Given the description of an element on the screen output the (x, y) to click on. 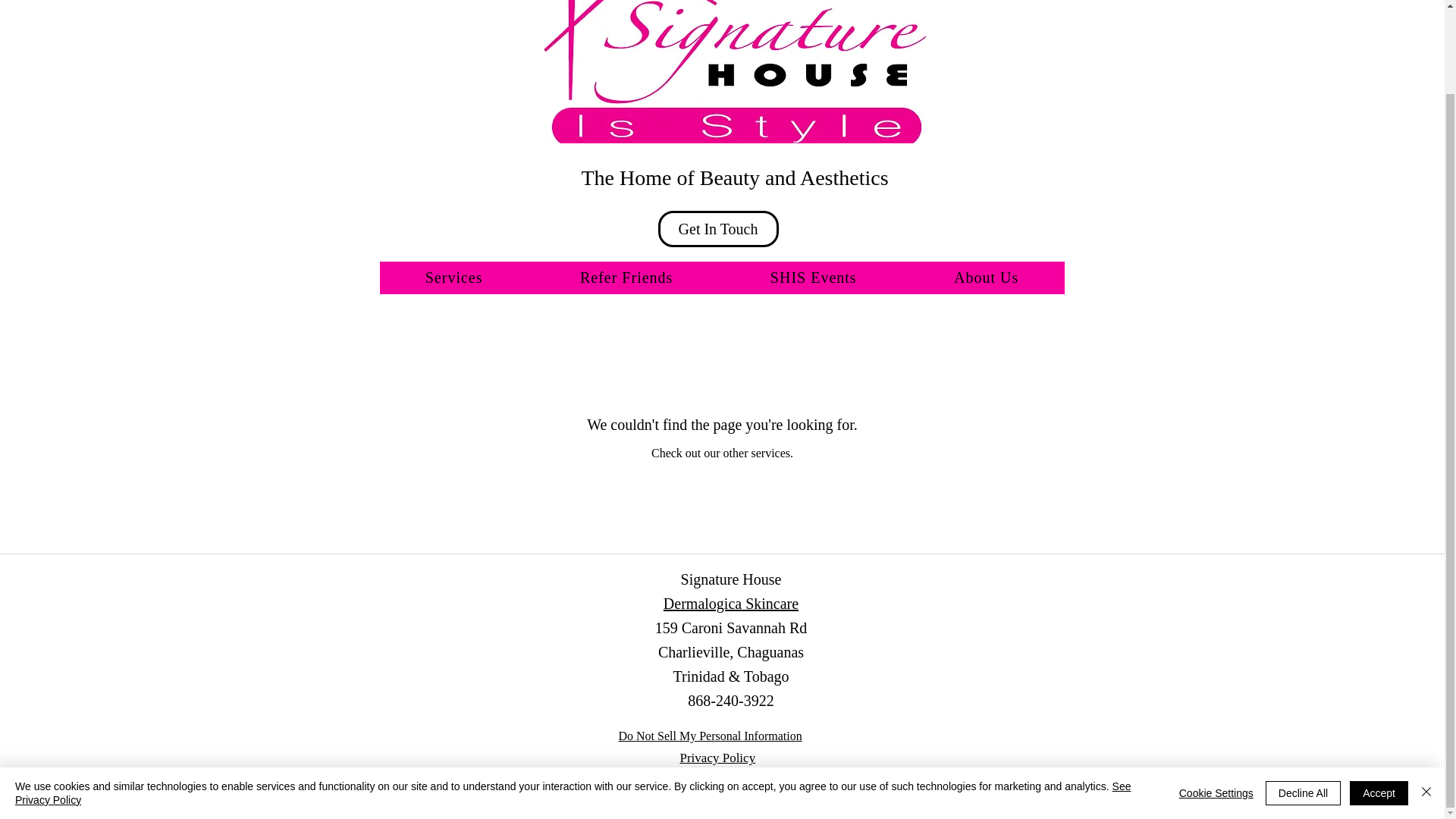
SHIS Events (813, 277)
Get In Touch (718, 228)
Decline All (1302, 698)
See Privacy Policy (572, 698)
Refer Friends (626, 277)
Do Not Sell My Personal Information (710, 735)
About Us (986, 277)
Privacy Policy (717, 757)
Services (452, 277)
Accept (1378, 698)
Dermalogica Skincare (730, 603)
